Given the description of an element on the screen output the (x, y) to click on. 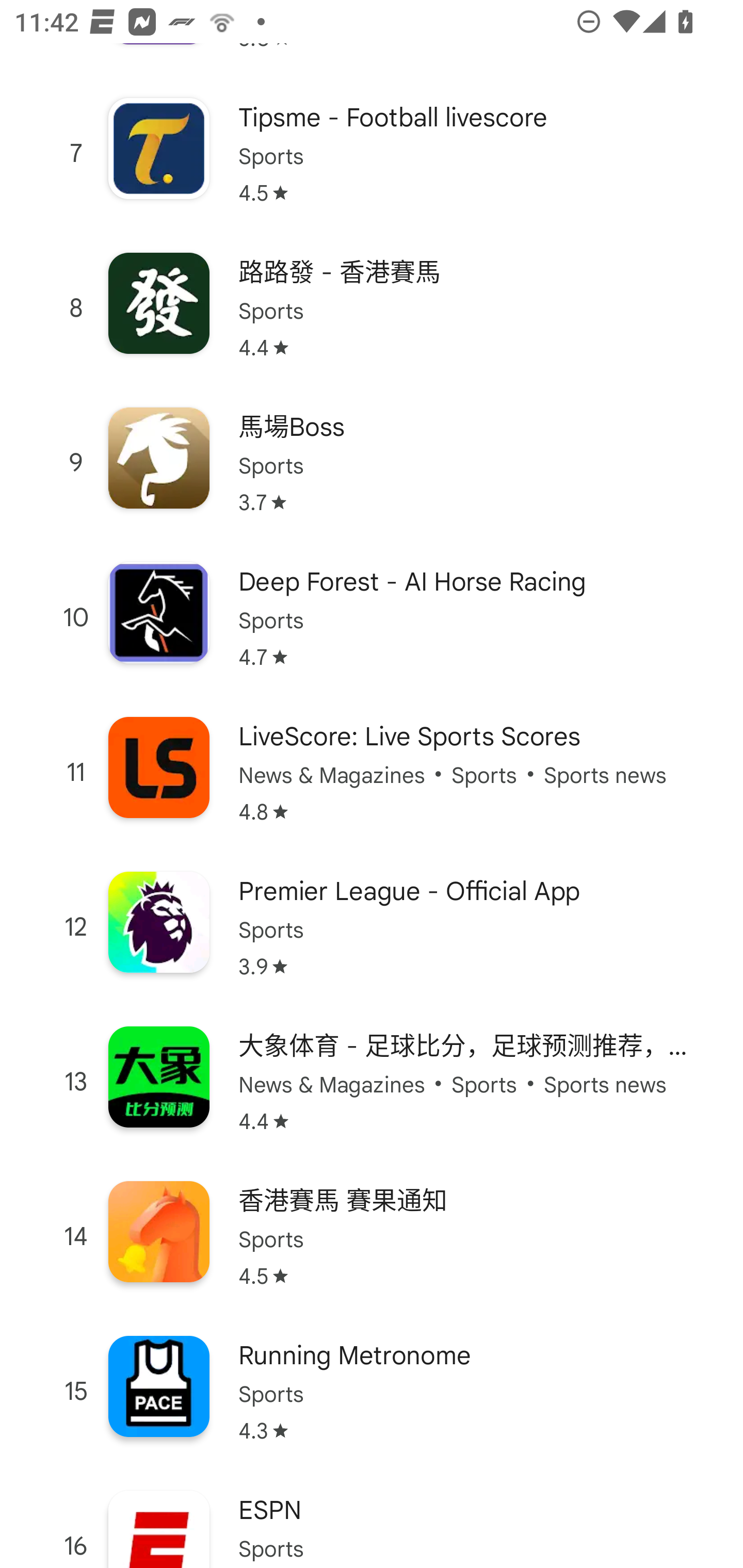
8 路路發 - 香港賽馬
Sports
Star rating: 4.4
 (371, 307)
9 馬場Boss
Sports
Star rating: 3.7
 (371, 462)
14 香港賽馬 賽果通知
Sports
Star rating: 4.5
 (371, 1235)
15 Running Metronome
Sports
Star rating: 4.3
 (371, 1391)
16 ESPN
Sports
Installed
 (371, 1518)
